Given the description of an element on the screen output the (x, y) to click on. 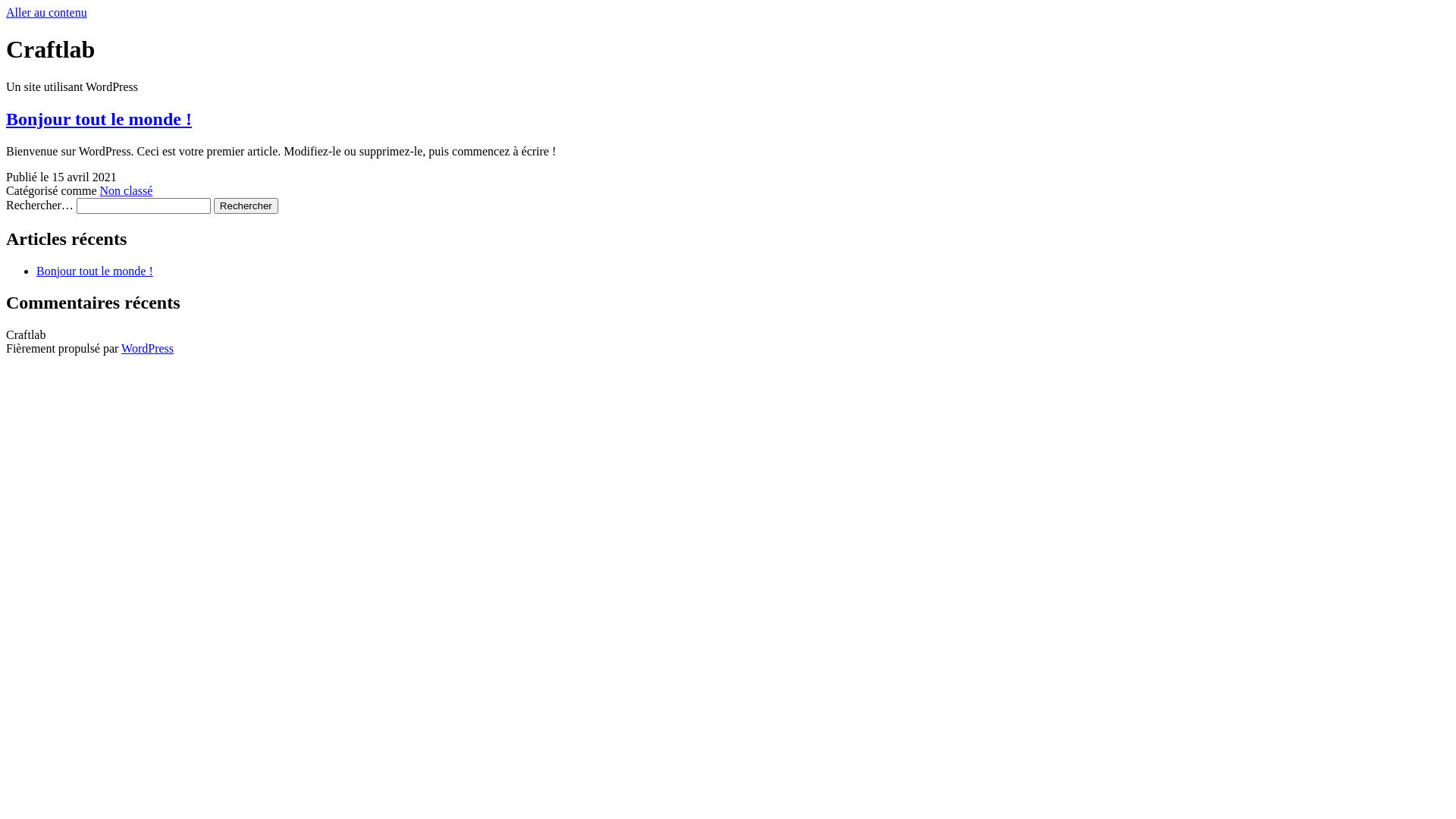
WordPress Element type: text (147, 348)
Bonjour tout le monde ! Element type: text (94, 269)
Rechercher Element type: text (245, 205)
Aller au contenu Element type: text (46, 12)
Bonjour tout le monde ! Element type: text (98, 118)
